Given the description of an element on the screen output the (x, y) to click on. 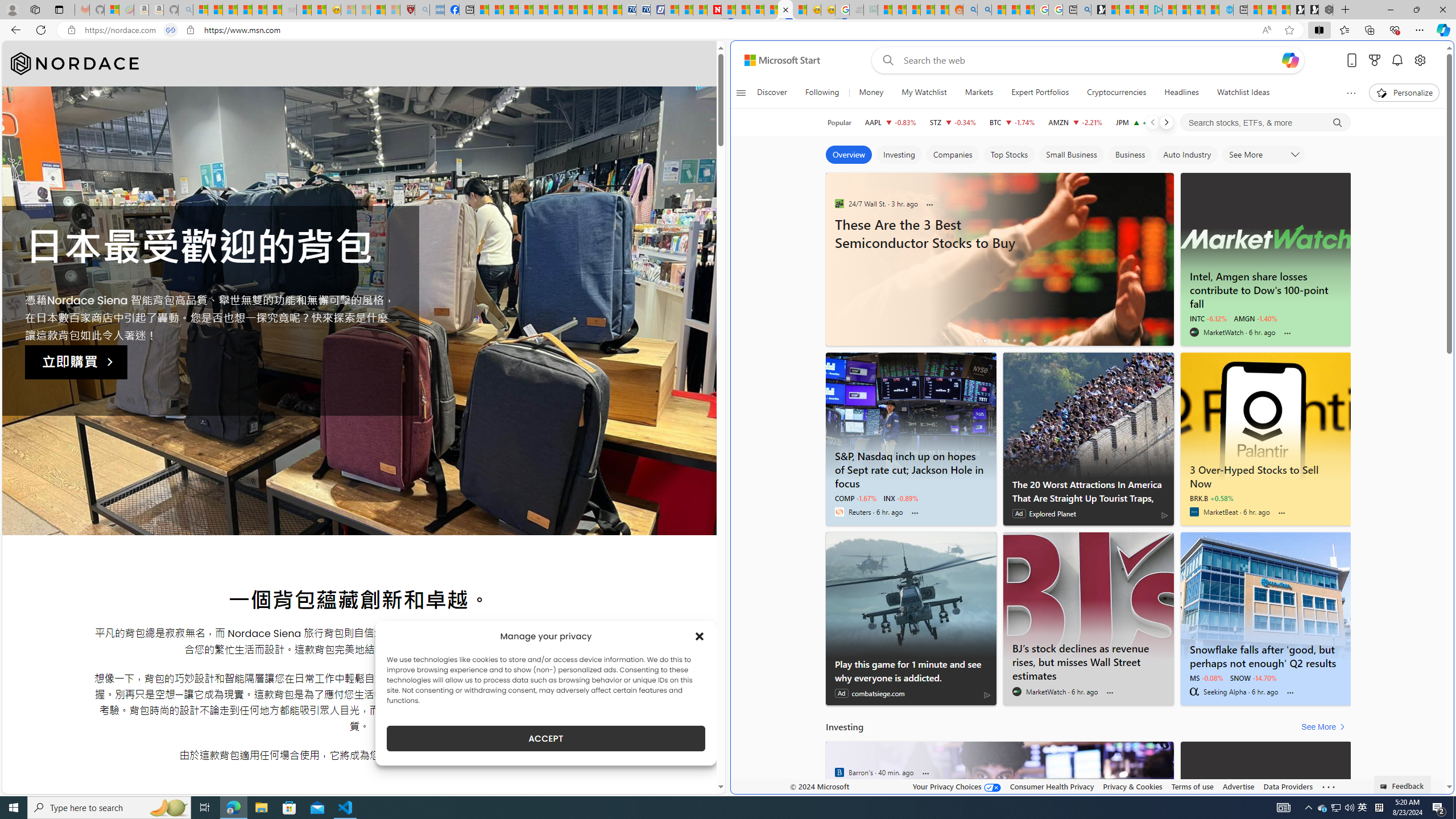
BTC Bitcoin decrease 60,359.26 -1,049.65 -1.74% (1012, 122)
Watchlist Ideas (1243, 92)
